Given the description of an element on the screen output the (x, y) to click on. 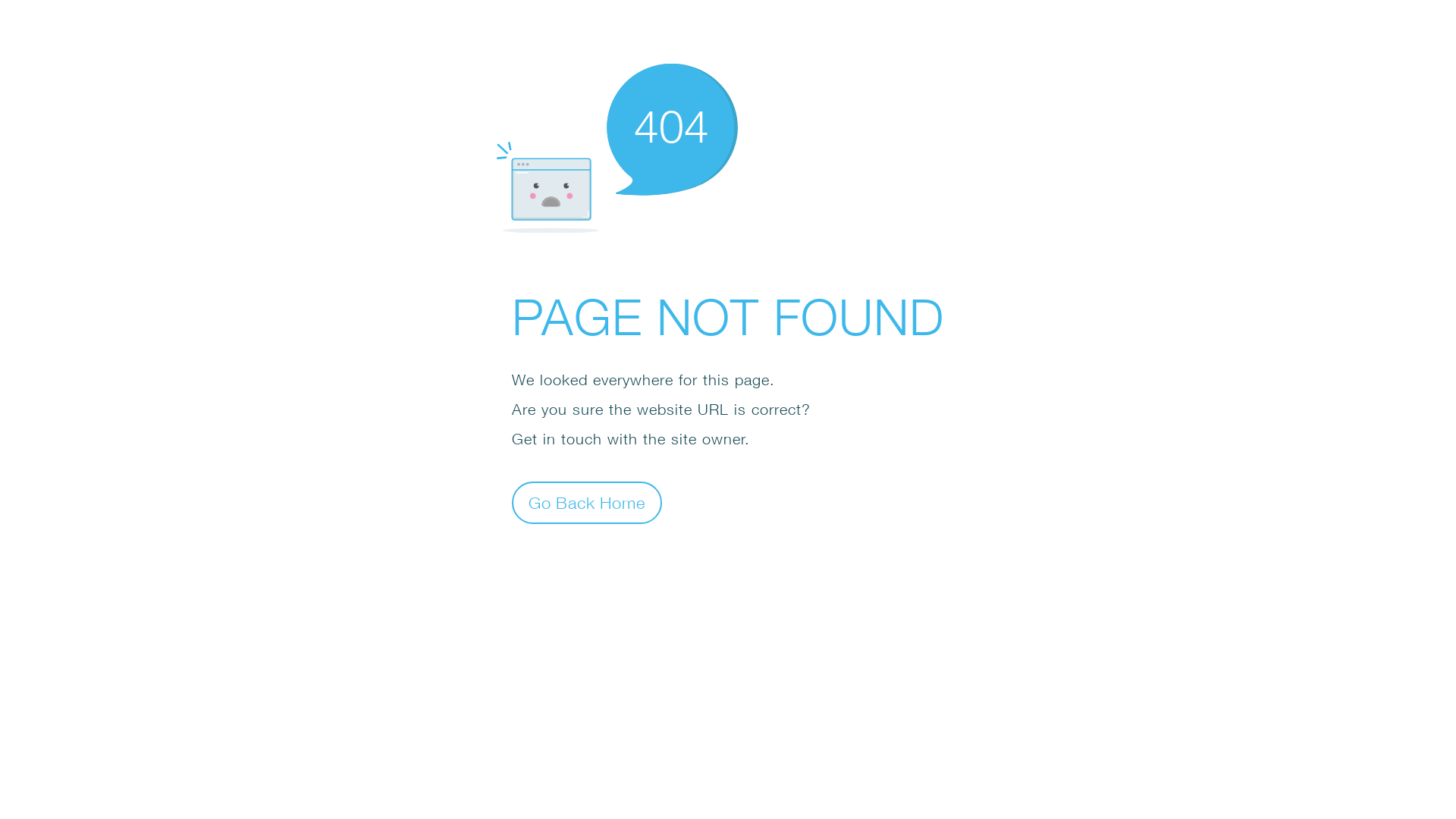
Go Back Home Element type: text (586, 502)
